Given the description of an element on the screen output the (x, y) to click on. 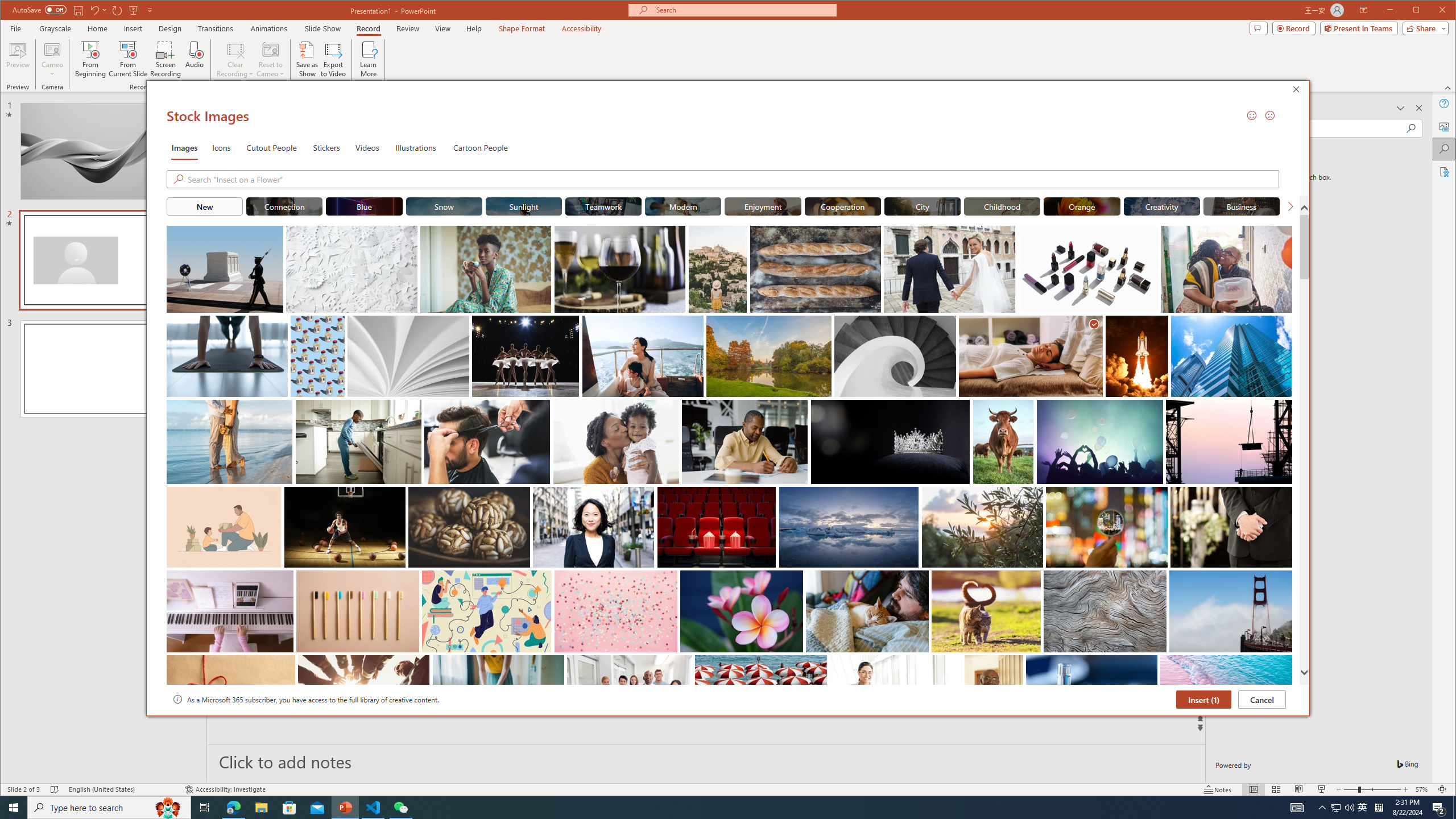
"Childhood" Stock Images. (1001, 206)
"Teamwork" Stock Images. (603, 206)
